Given the description of an element on the screen output the (x, y) to click on. 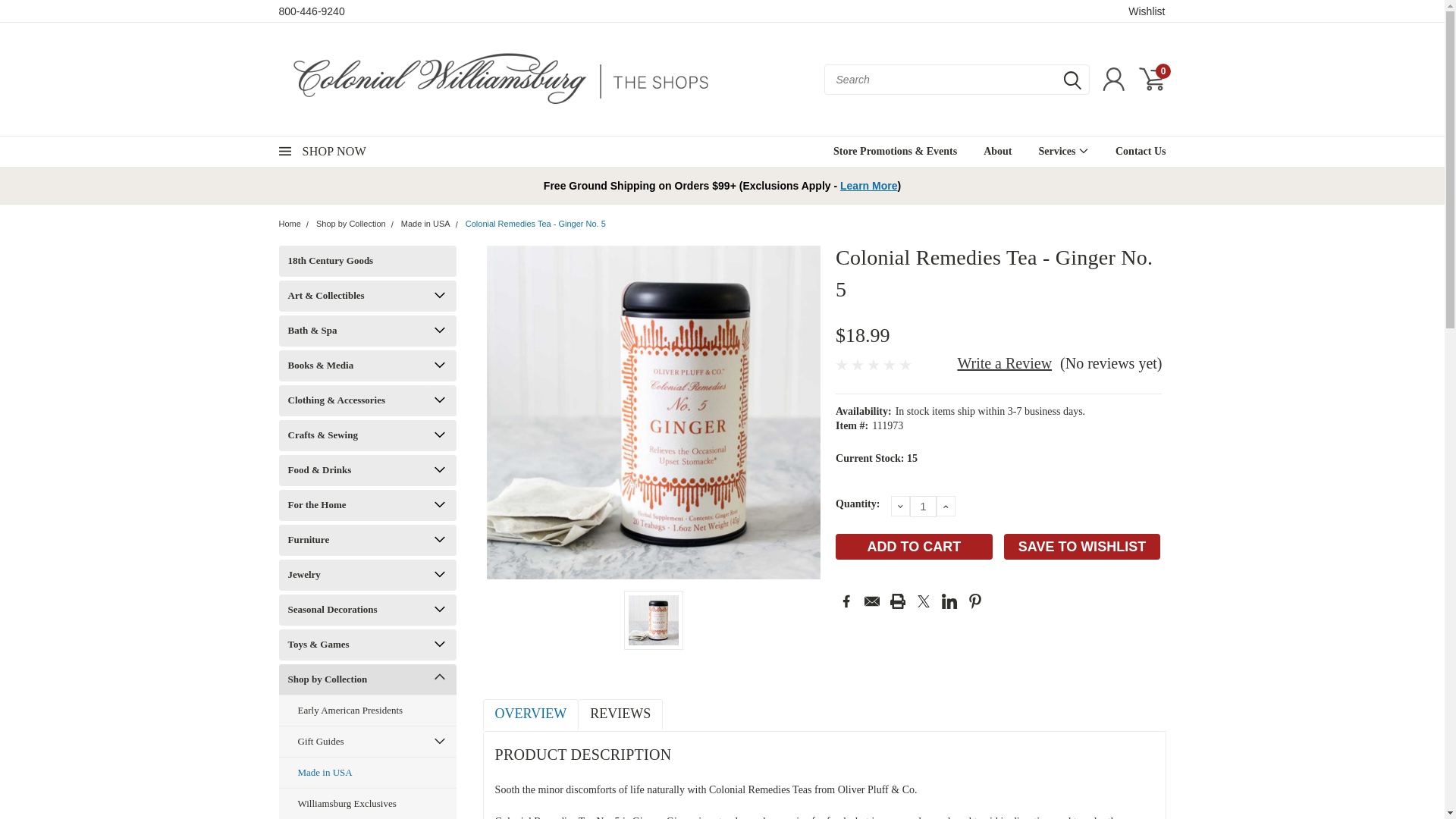
Email (871, 601)
Pinterest (975, 601)
1 (923, 506)
0 (1151, 79)
The Shops at Colonial Williamsburg (500, 78)
800-446-9240 (312, 10)
Add to Cart (913, 546)
Print (897, 601)
Wishlist (1146, 10)
Facebook (845, 601)
Twitter (923, 601)
Linkedin (949, 601)
